Given the description of an element on the screen output the (x, y) to click on. 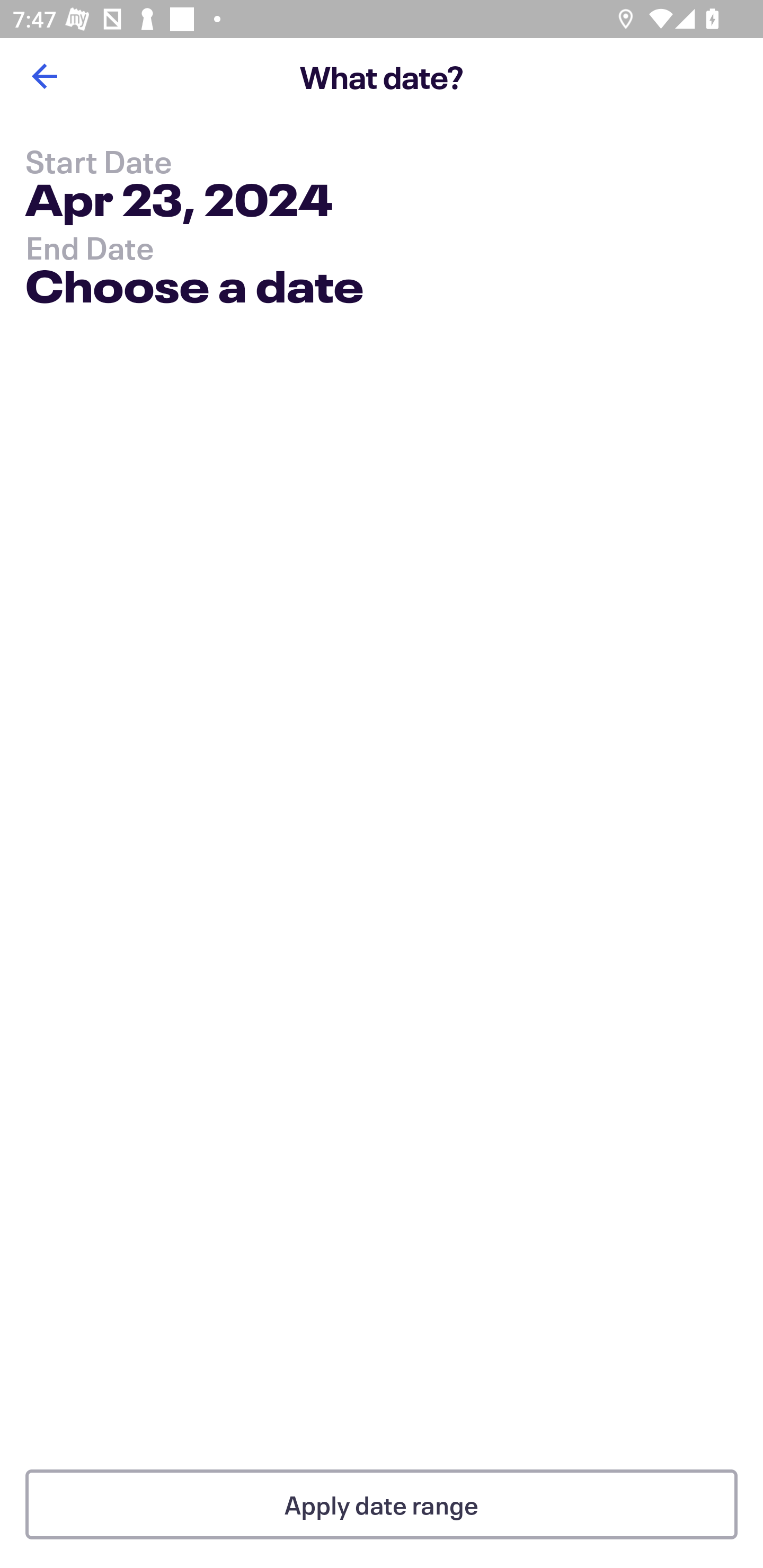
Back button (44, 75)
Apr 23, 2024 (178, 203)
Choose a date (194, 289)
Apply date range (381, 1504)
